Given the description of an element on the screen output the (x, y) to click on. 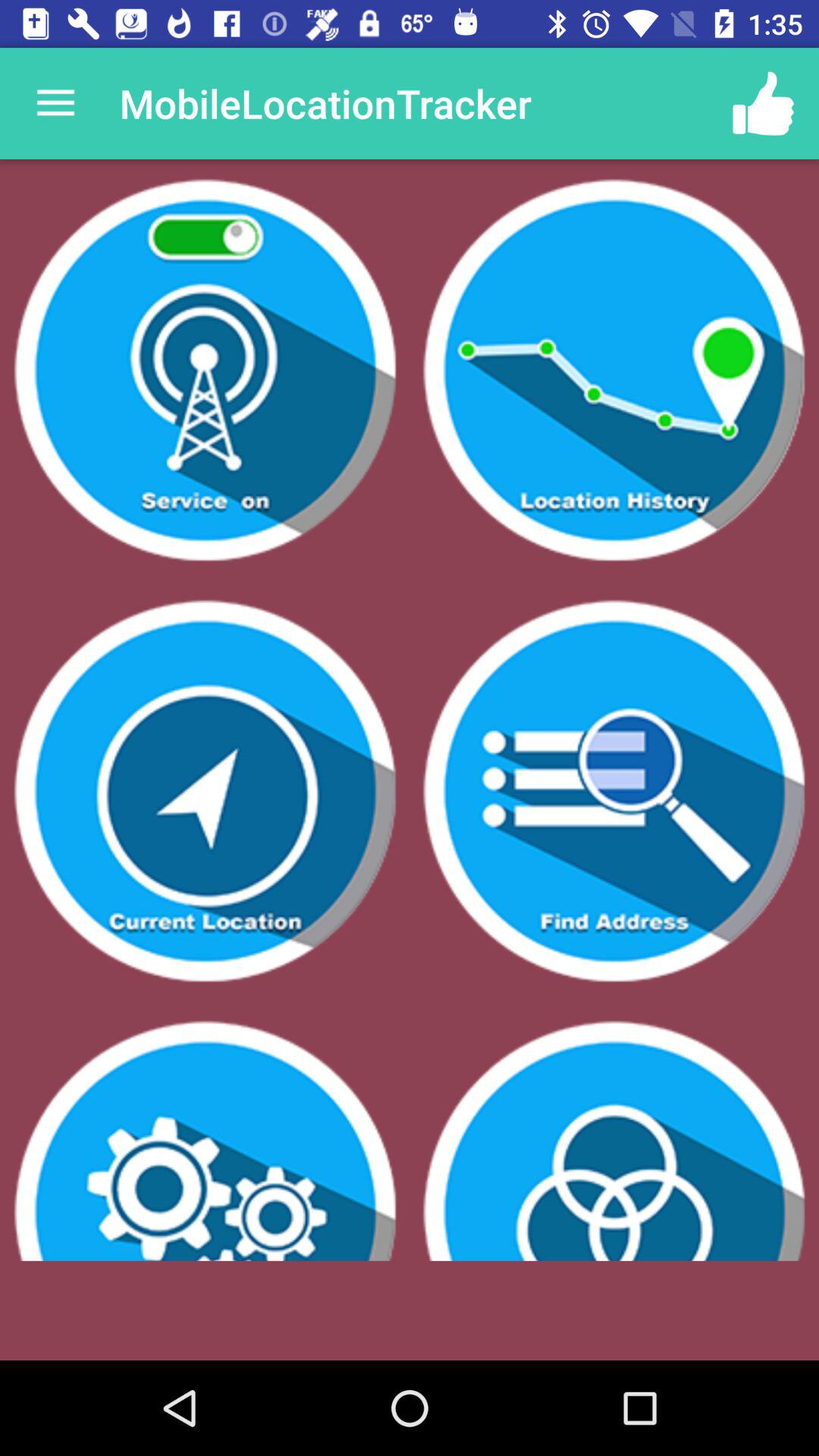
click app next to mobilelocationtracker (55, 103)
